Given the description of an element on the screen output the (x, y) to click on. 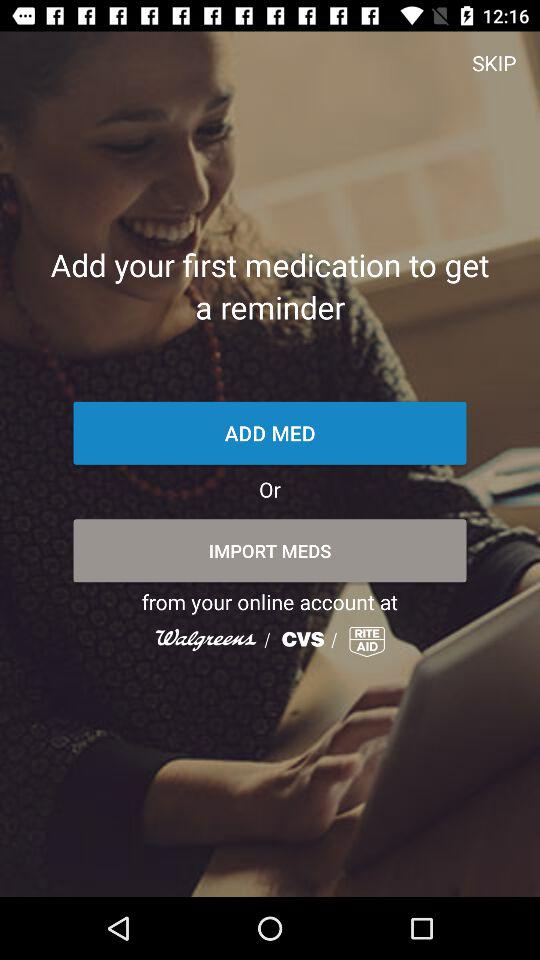
choose the skip (494, 62)
